Given the description of an element on the screen output the (x, y) to click on. 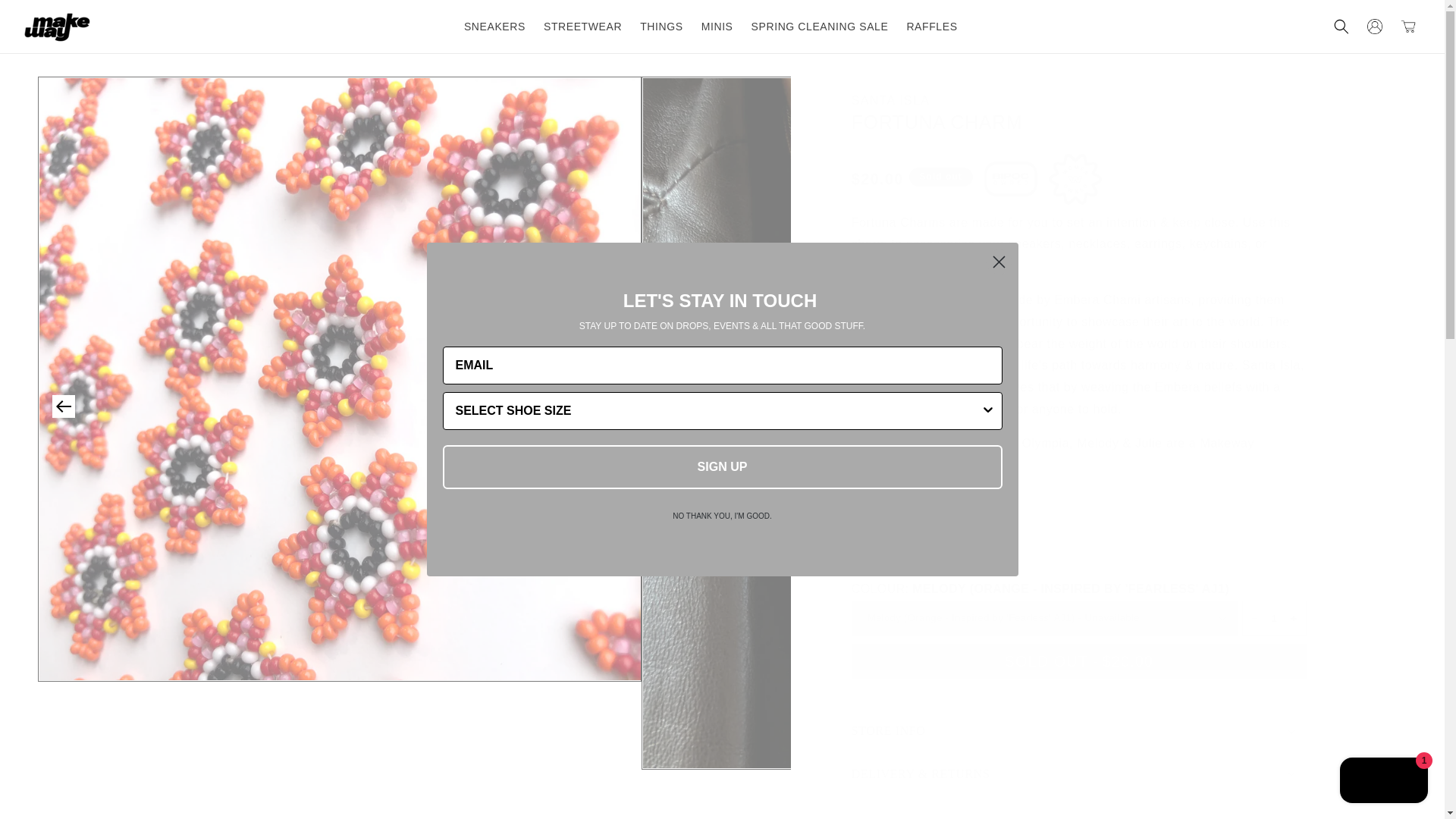
Shopify online store chat (1383, 781)
SKIP TO CONTENT (45, 17)
Close dialog 1 (998, 261)
